Given the description of an element on the screen output the (x, y) to click on. 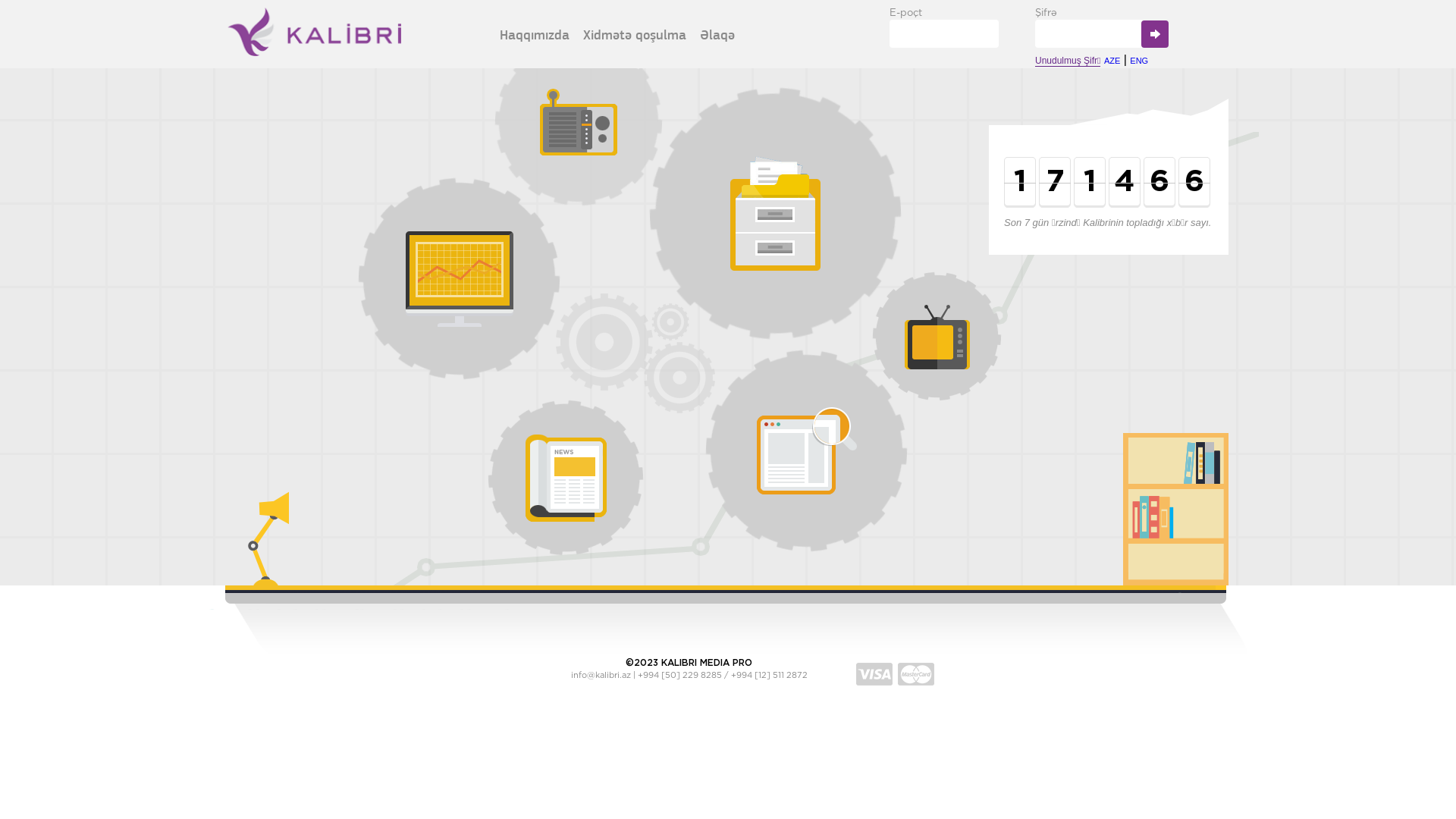
ENG Element type: text (1138, 60)
AZE Element type: text (1112, 60)
